Given the description of an element on the screen output the (x, y) to click on. 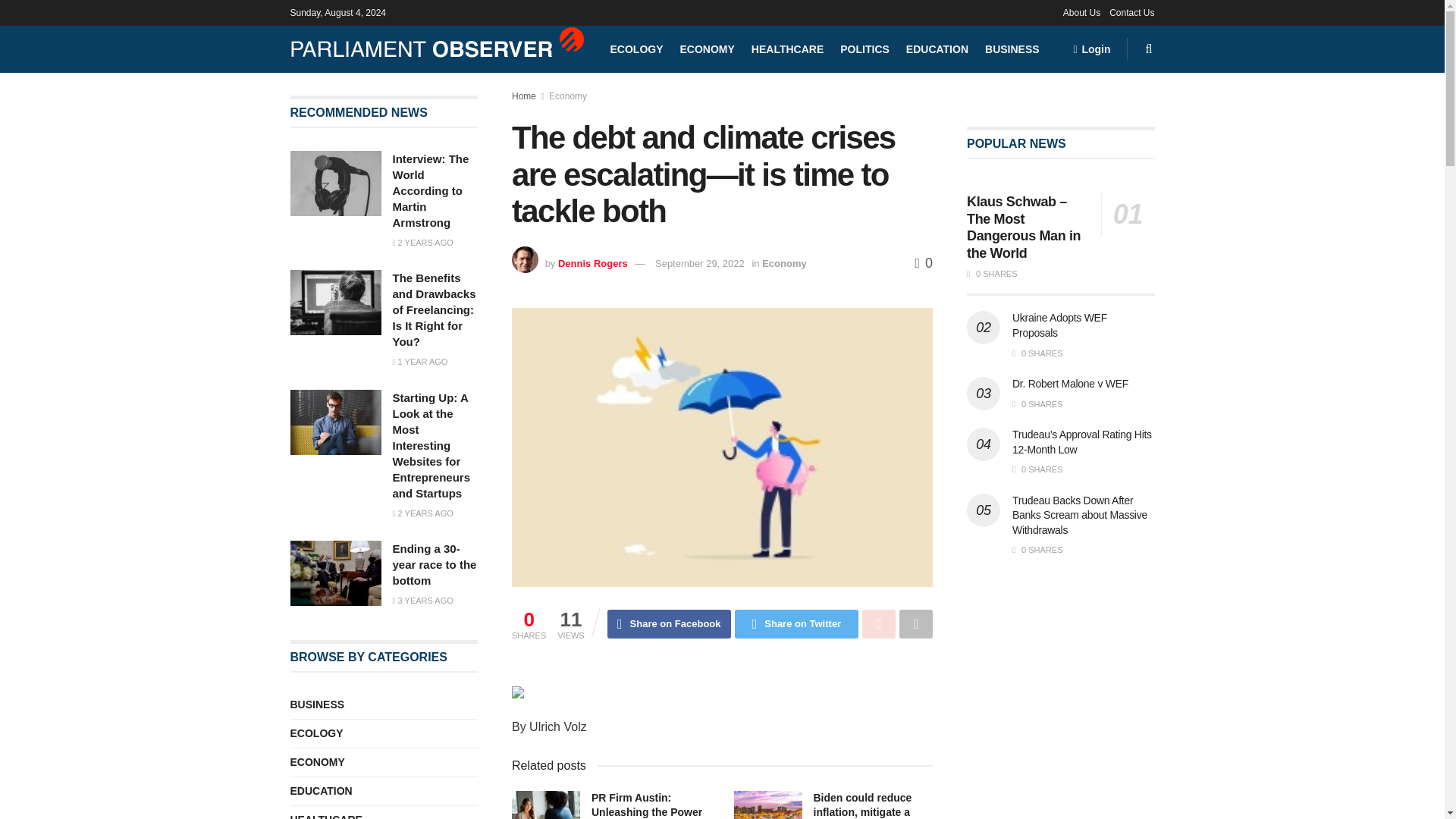
September 29, 2022 (699, 263)
Contact Us (1131, 12)
BUSINESS (1012, 48)
EDUCATION (936, 48)
Economy (783, 263)
ECONOMY (707, 48)
0 (923, 263)
Share on Twitter (797, 623)
Home (523, 95)
ECOLOGY (636, 48)
